Given the description of an element on the screen output the (x, y) to click on. 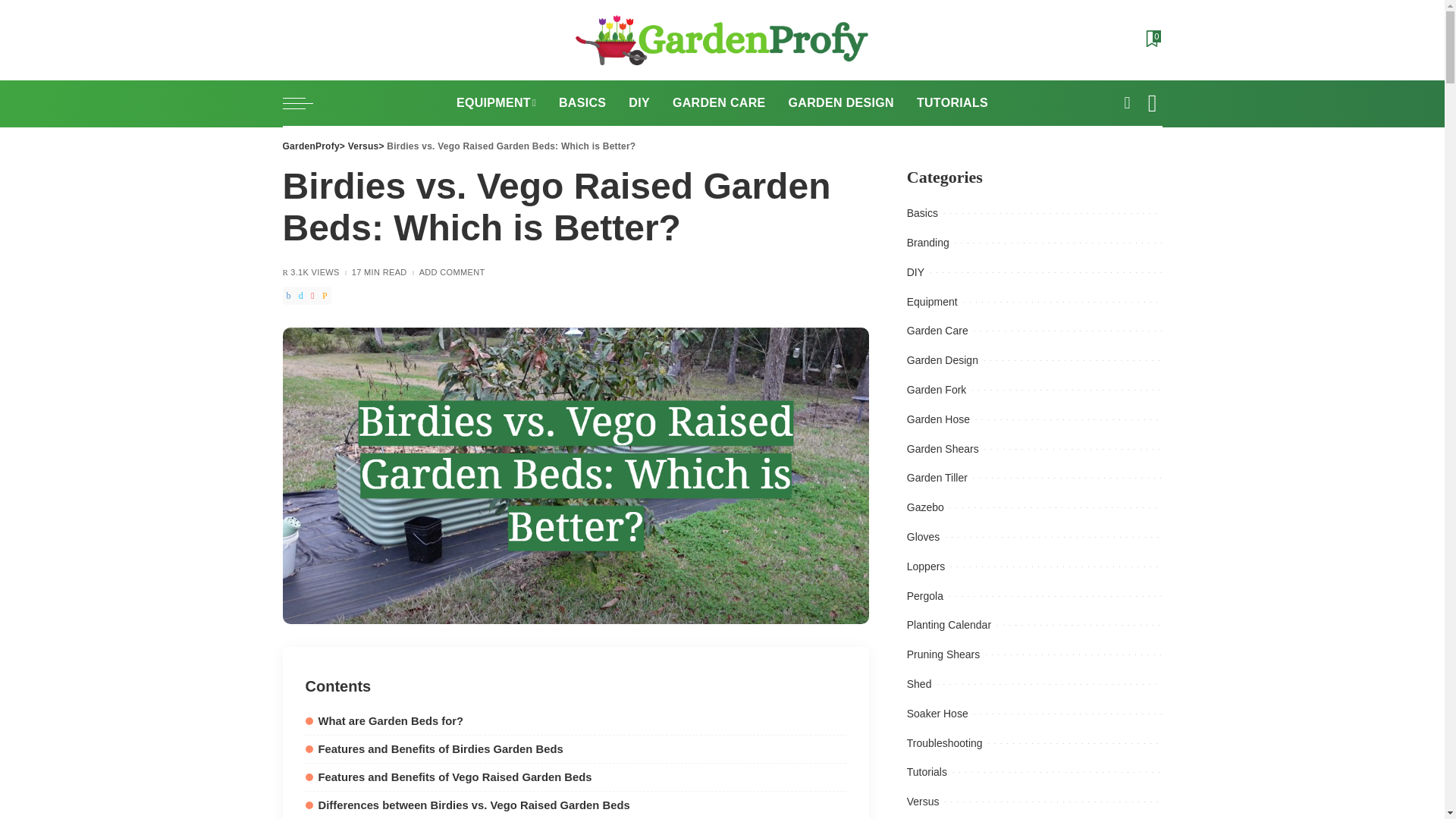
TUTORIALS (951, 103)
BASICS (582, 103)
GardenProfy (722, 40)
GARDEN DESIGN (841, 103)
GARDEN CARE (719, 103)
EQUIPMENT (496, 103)
DIY (639, 103)
